Given the description of an element on the screen output the (x, y) to click on. 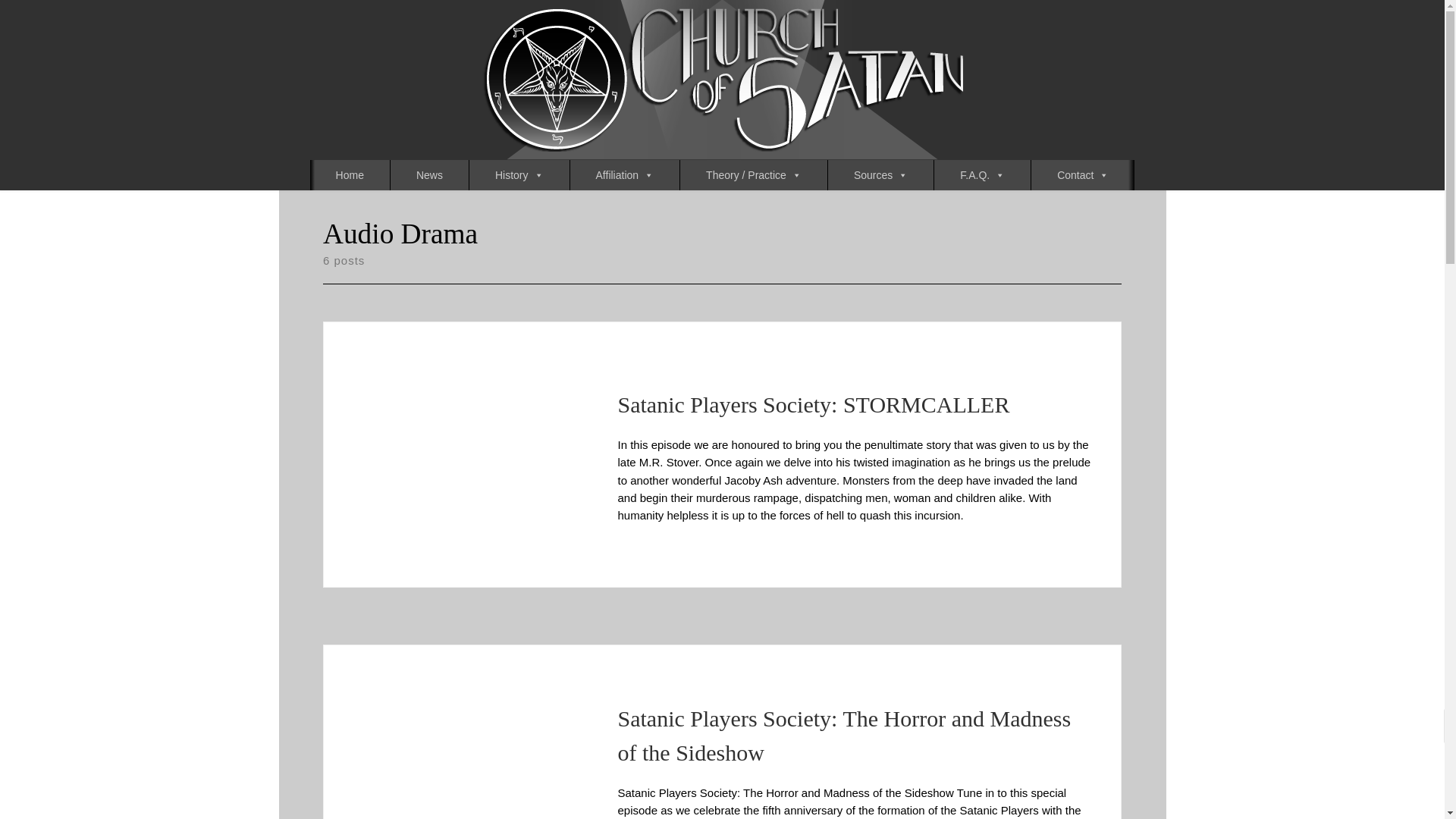
News (429, 174)
Skip to content (60, 20)
Affiliation (624, 174)
Sources (880, 174)
History (518, 174)
Home (350, 174)
